Given the description of an element on the screen output the (x, y) to click on. 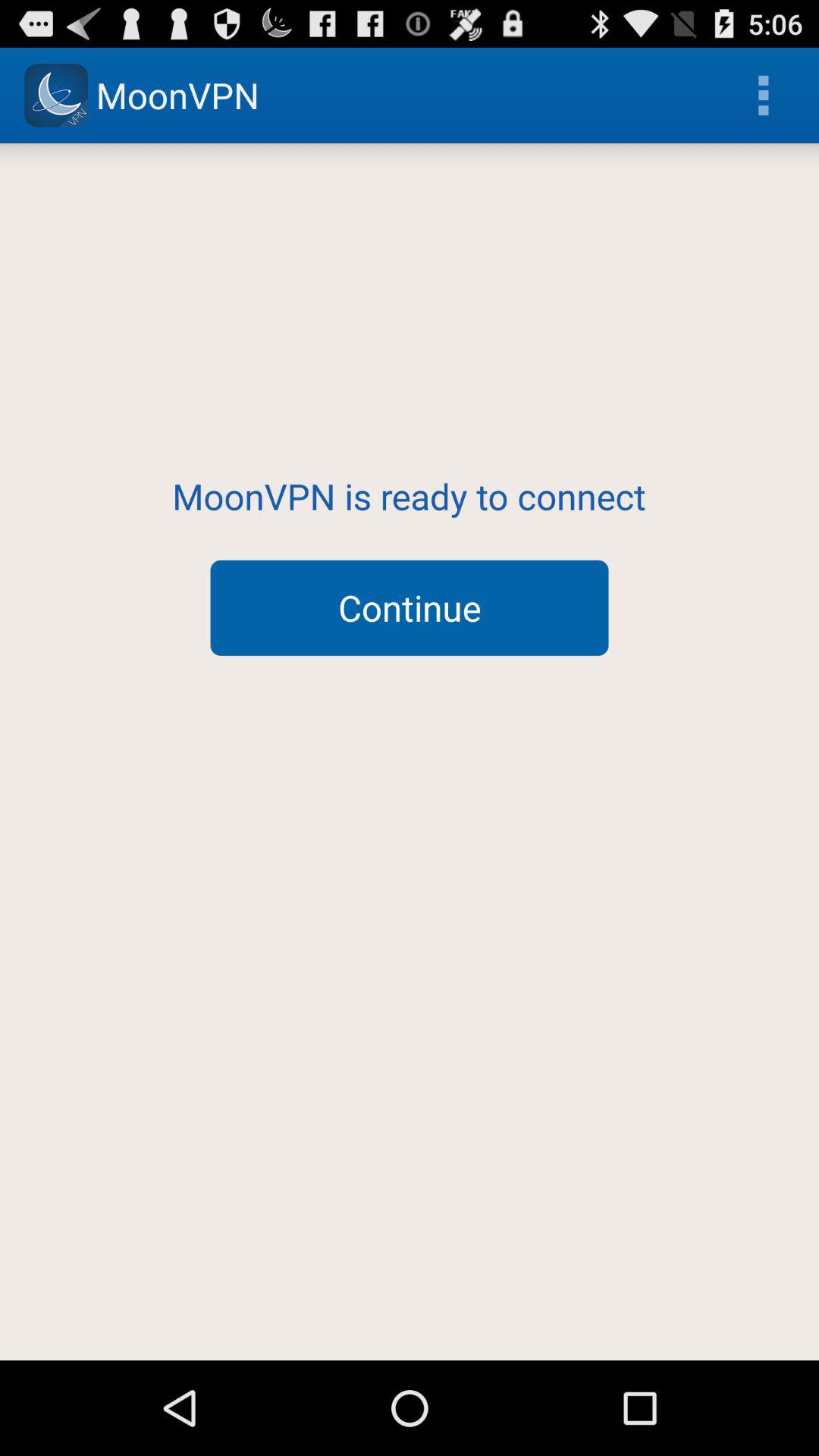
launch the item next to moonvpn icon (763, 95)
